Given the description of an element on the screen output the (x, y) to click on. 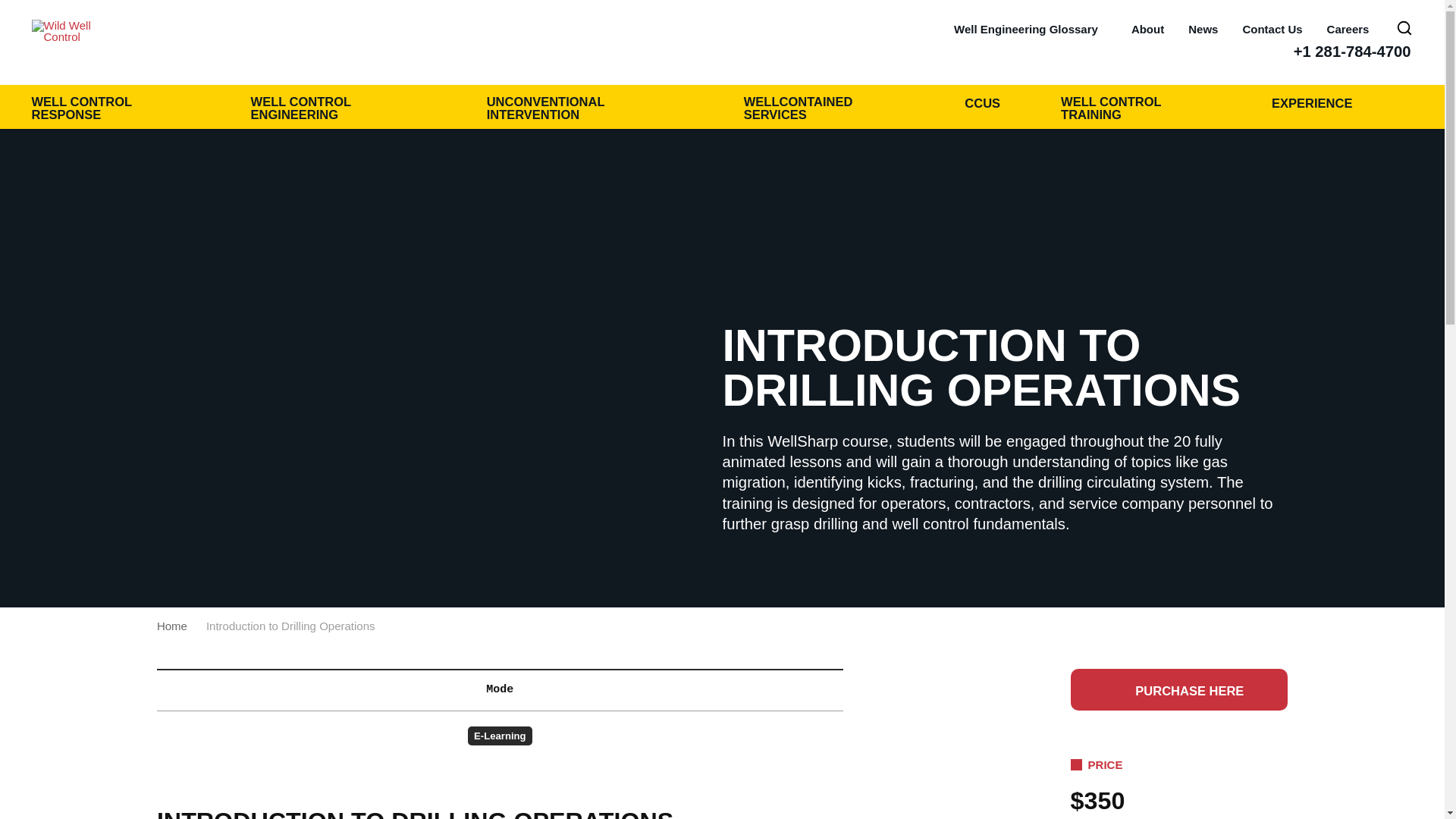
Careers (1352, 29)
Well Engineering Glossary (1029, 29)
WELL CONTROL RESPONSE (123, 106)
UNCONVENTIONAL INTERVENTION (596, 106)
WELL CONTROL ENGINEERING (349, 106)
WELL CONTROL TRAINING (1147, 106)
CCUS (994, 101)
About (1147, 29)
Contact Us (1271, 29)
WELLCONTAINED SERVICES (836, 106)
